Given the description of an element on the screen output the (x, y) to click on. 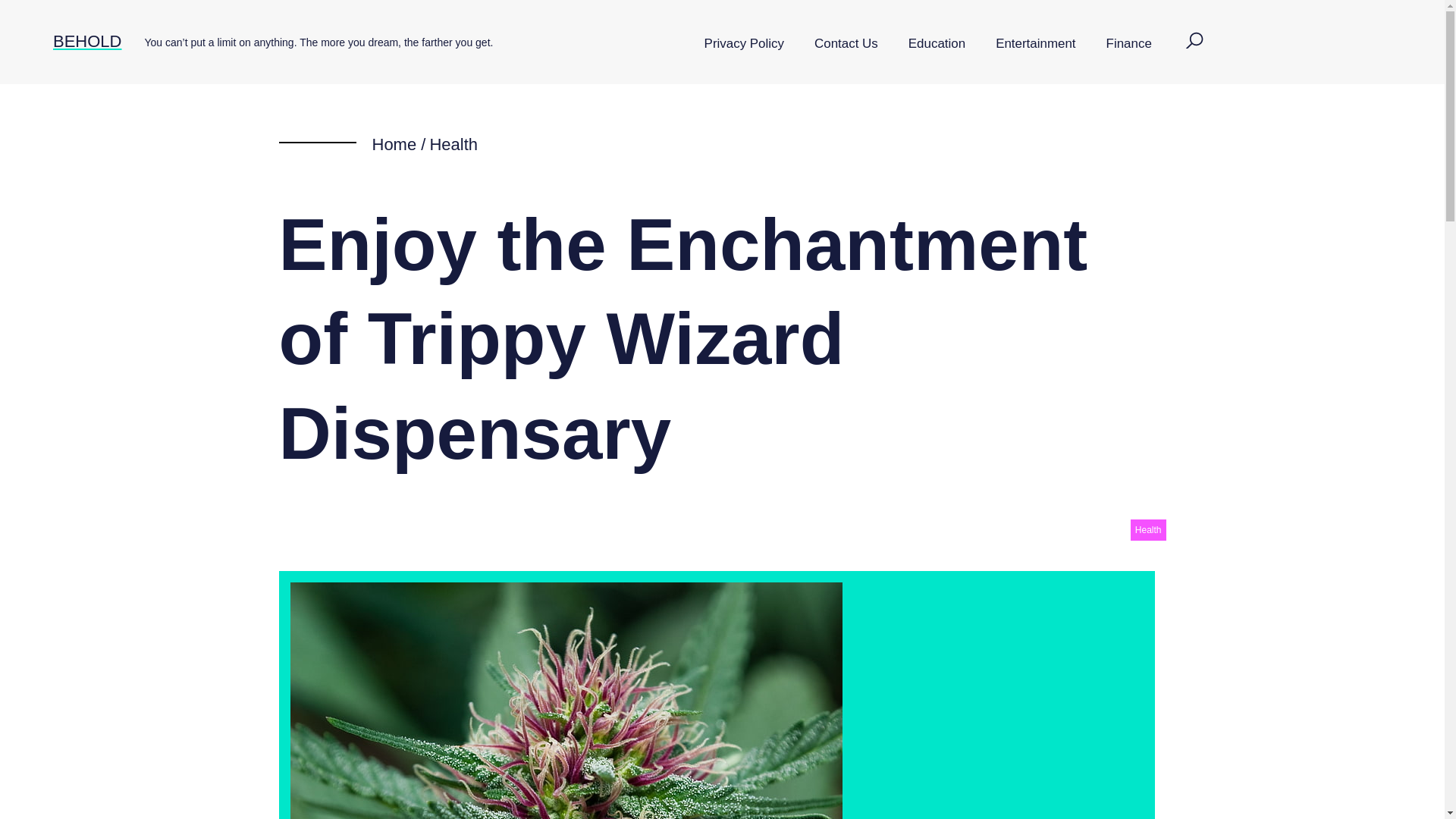
Entertainment (1034, 43)
BEHOLD (86, 40)
Privacy Policy (743, 43)
Health (453, 144)
Contact Us (846, 43)
Home (393, 144)
Health (1148, 529)
Finance (1128, 43)
Education (936, 43)
